Given the description of an element on the screen output the (x, y) to click on. 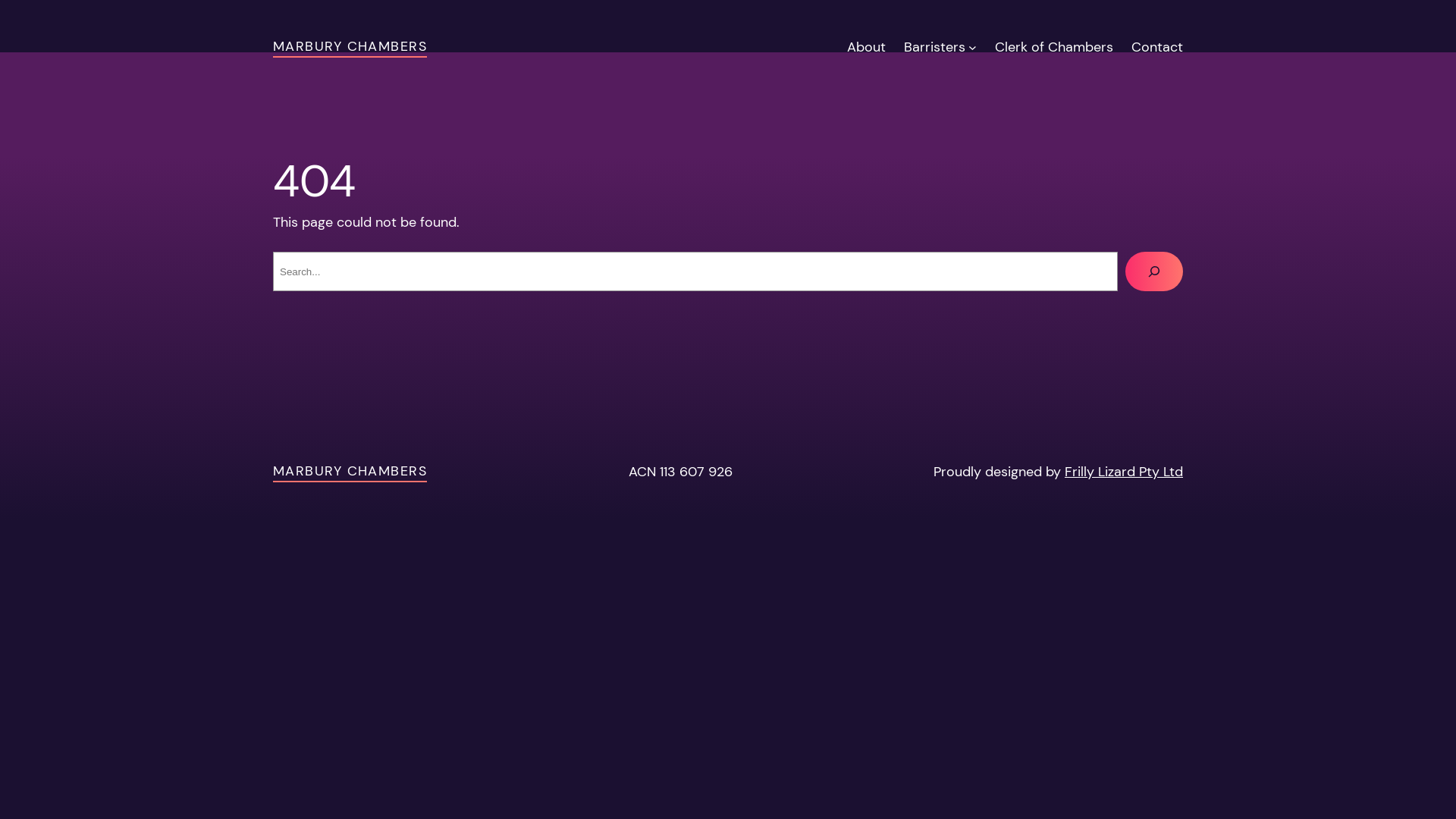
MARBURY CHAMBERS Element type: text (349, 46)
MARBURY CHAMBERS Element type: text (349, 470)
About Element type: text (866, 47)
Clerk of Chambers Element type: text (1053, 47)
Frilly Lizard Pty Ltd Element type: text (1123, 471)
Barristers Element type: text (934, 47)
Contact Element type: text (1157, 47)
